Given the description of an element on the screen output the (x, y) to click on. 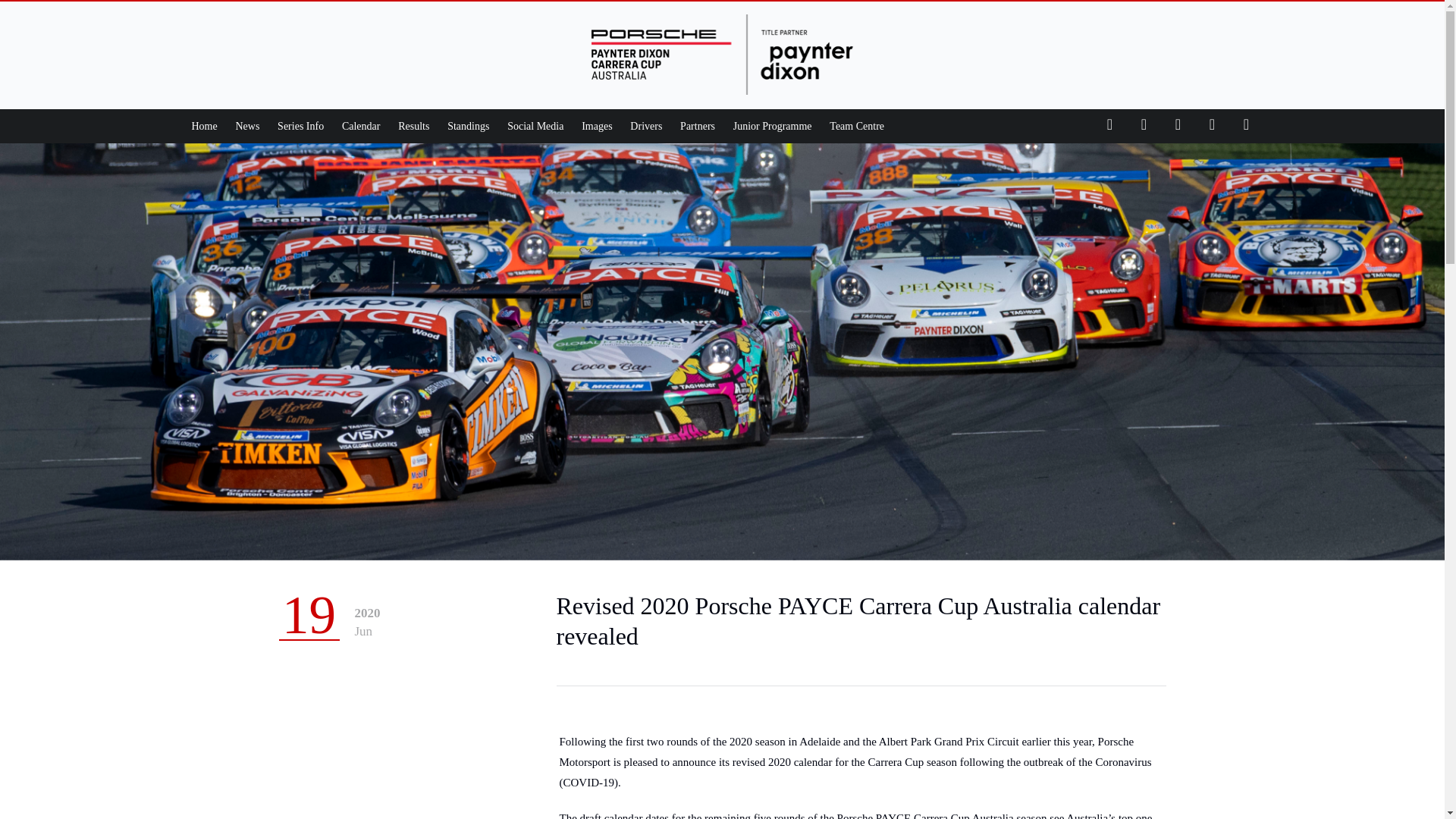
Porsche Michelin Junior Programme (772, 125)
Search (1102, 23)
